Given the description of an element on the screen output the (x, y) to click on. 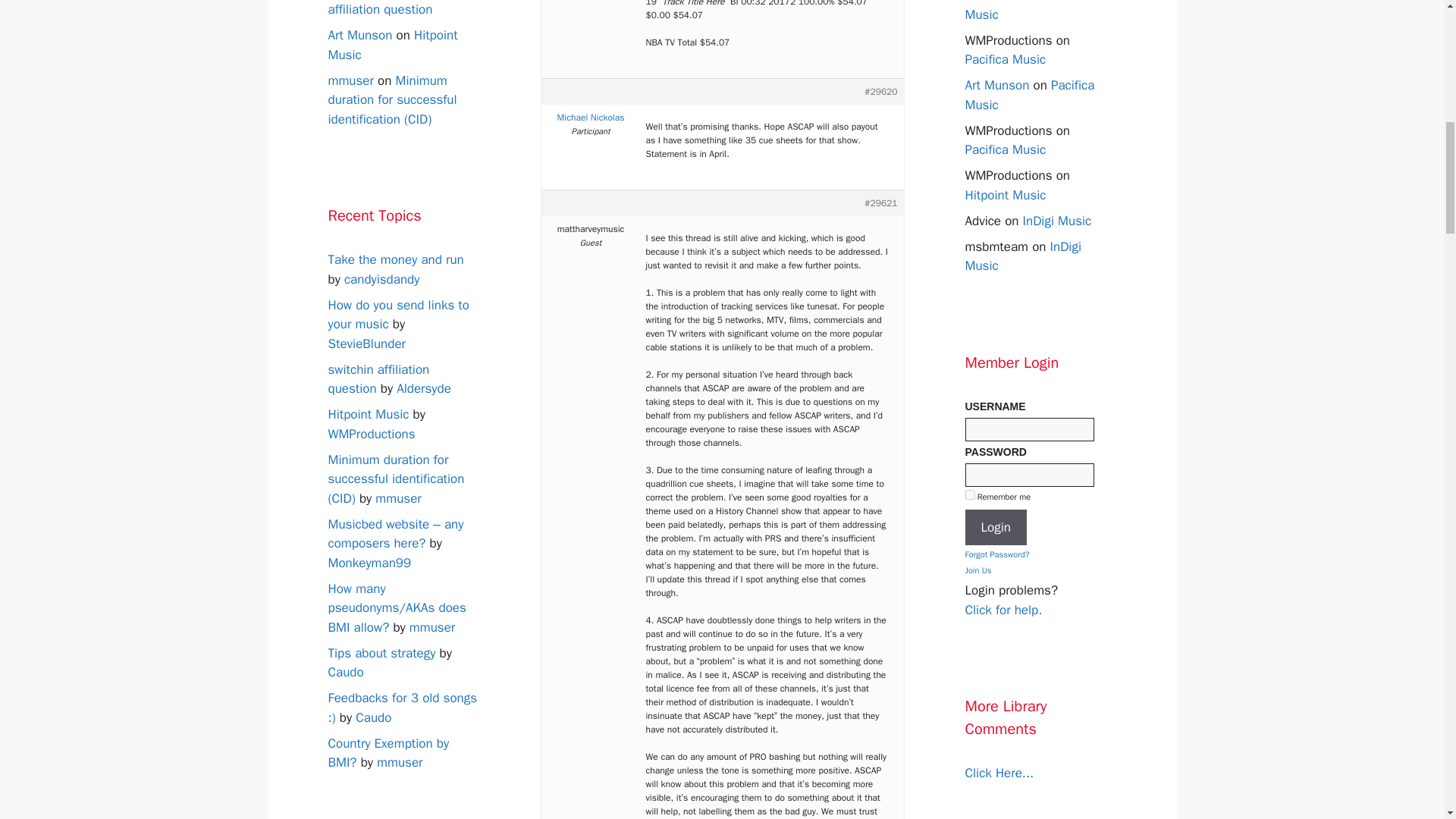
forever (968, 494)
Login (994, 527)
View Michael Nickolas's profile (590, 117)
